Given the description of an element on the screen output the (x, y) to click on. 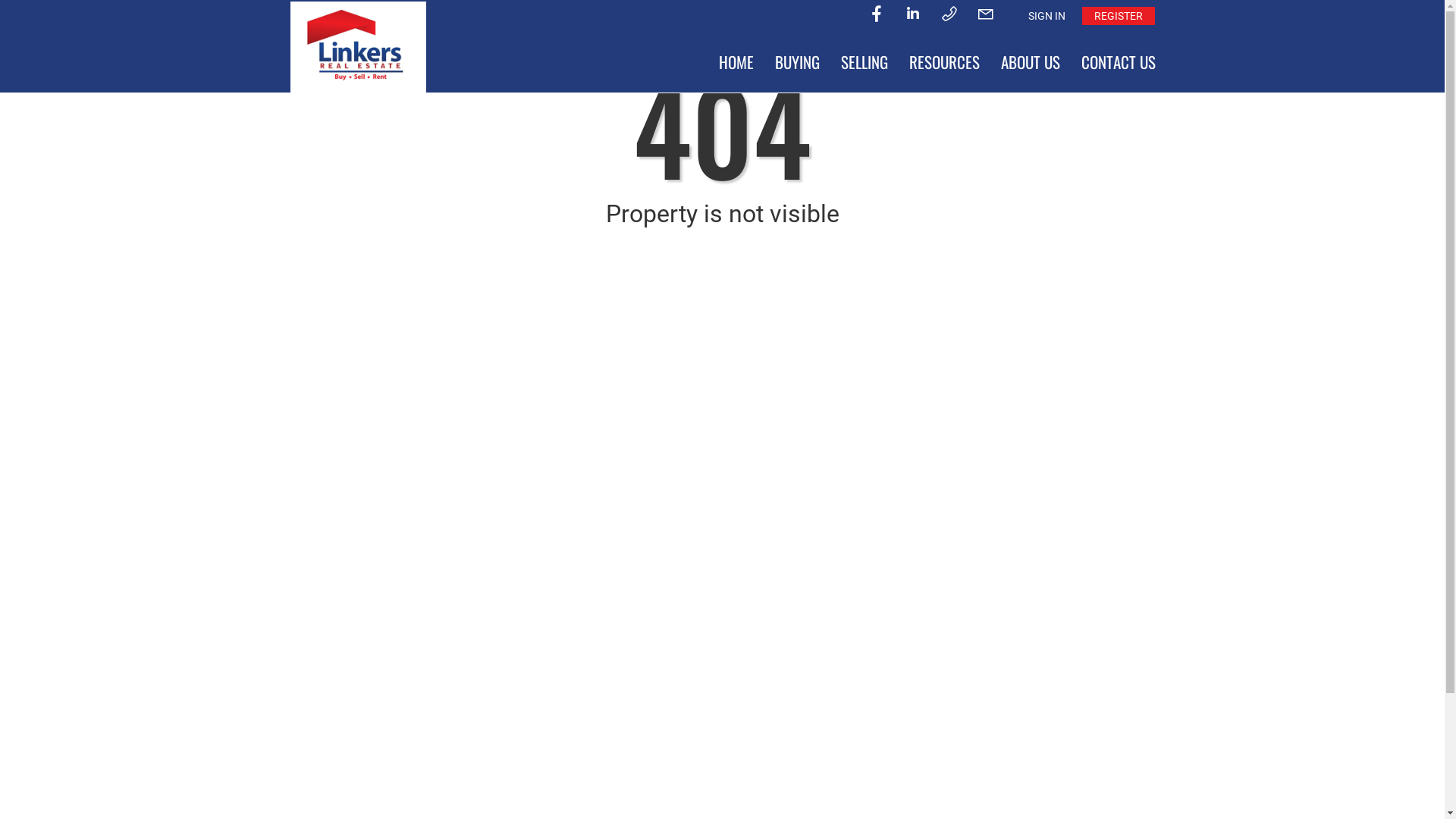
SIGN IN Element type: text (1046, 15)
REGISTER Element type: text (1117, 15)
CONTACT US Element type: text (1118, 61)
ABOUT US Element type: text (1030, 61)
SELLING Element type: text (863, 61)
RESOURCES Element type: text (943, 61)
BUYING Element type: text (797, 61)
HOME Element type: text (736, 61)
